Given the description of an element on the screen output the (x, y) to click on. 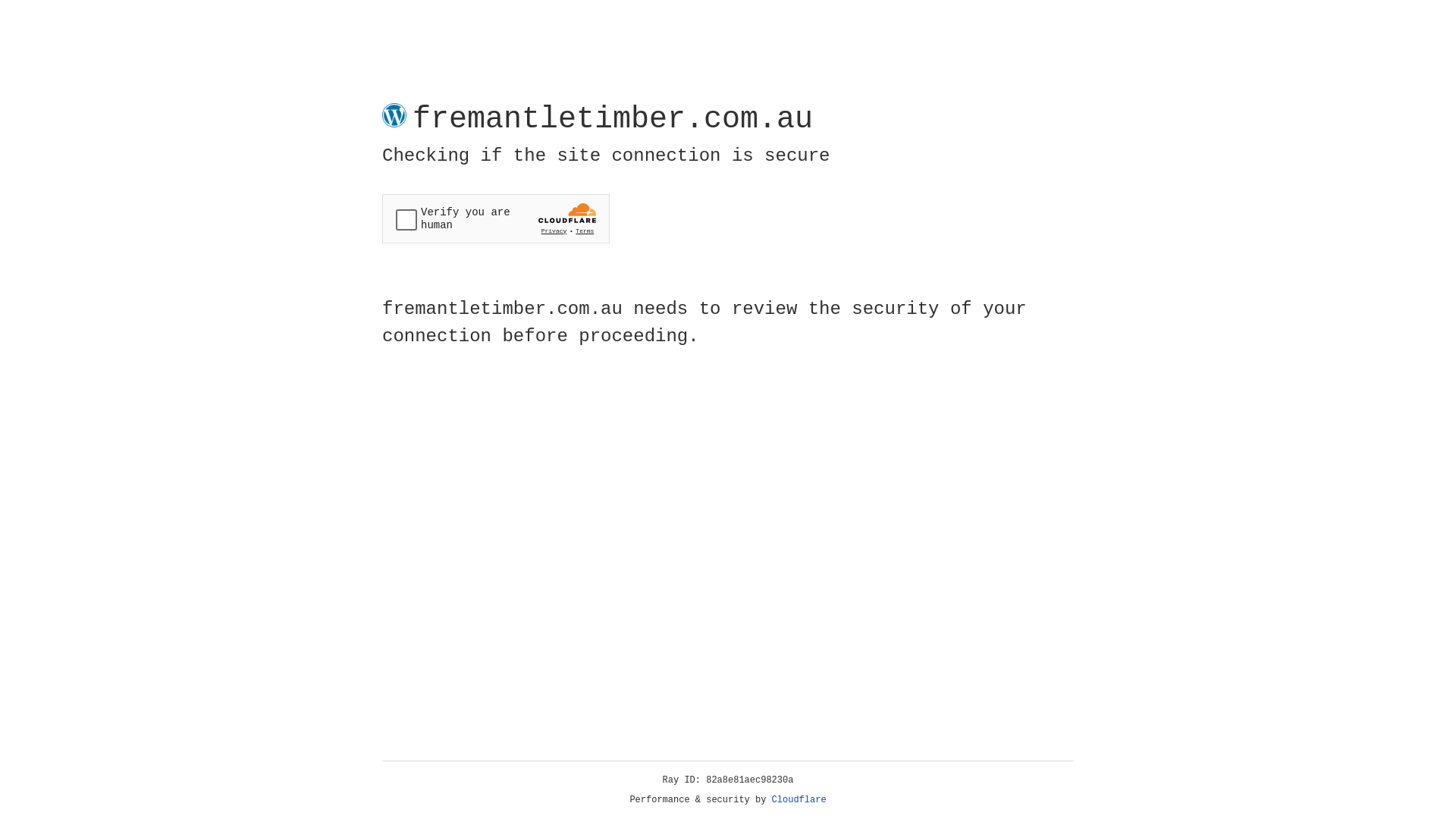
Cloudflare Element type: text (798, 799)
Widget containing a Cloudflare security challenge Element type: hover (495, 218)
